Given the description of an element on the screen output the (x, y) to click on. 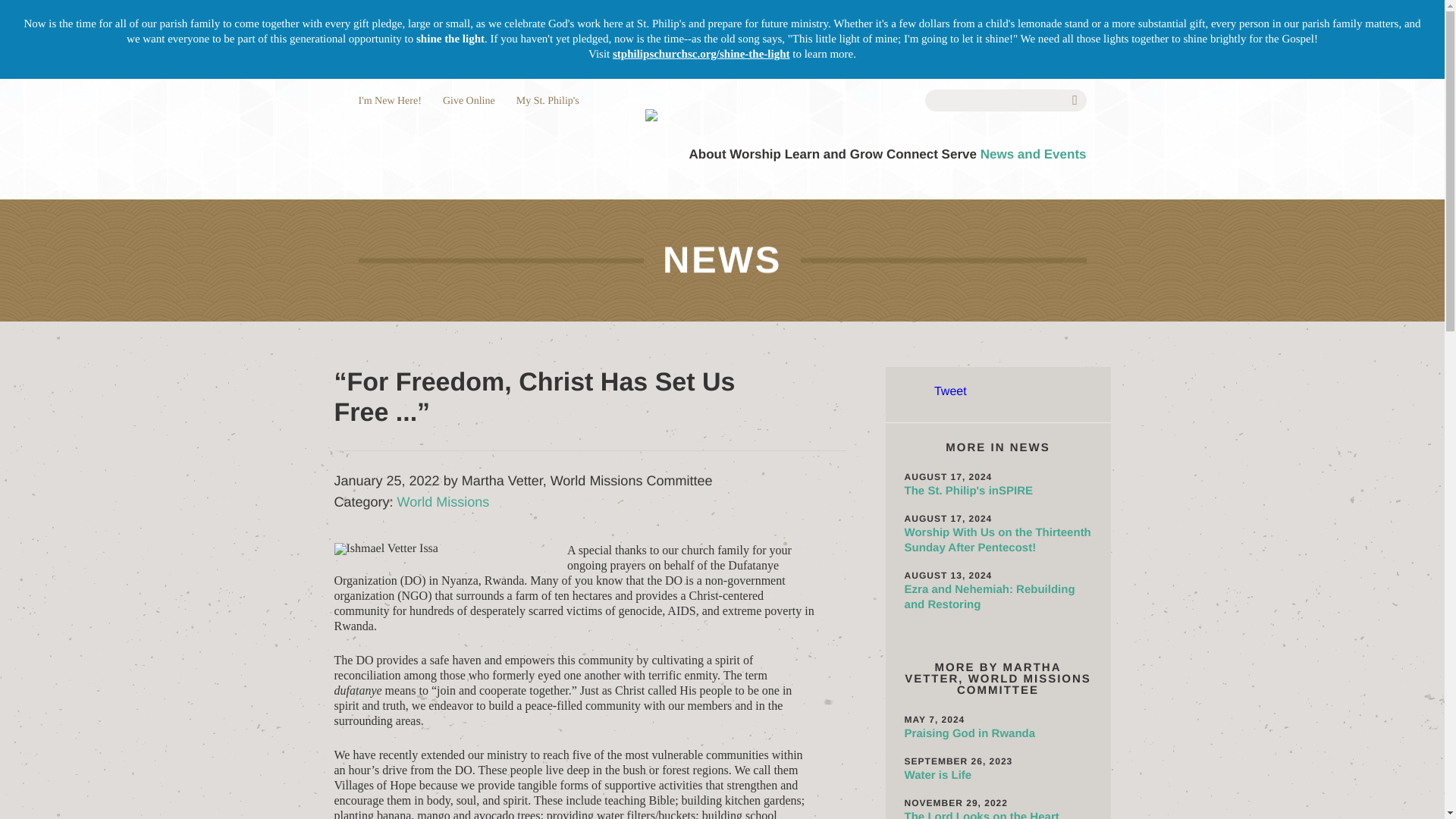
About (706, 154)
Serve (959, 154)
I'm New Here! (389, 101)
Give Online (468, 101)
St. Philip's Directory Login (547, 101)
My St. Philip's (547, 101)
Worship (754, 154)
Learn and Grow (833, 154)
News and Events (1032, 154)
